Given the description of an element on the screen output the (x, y) to click on. 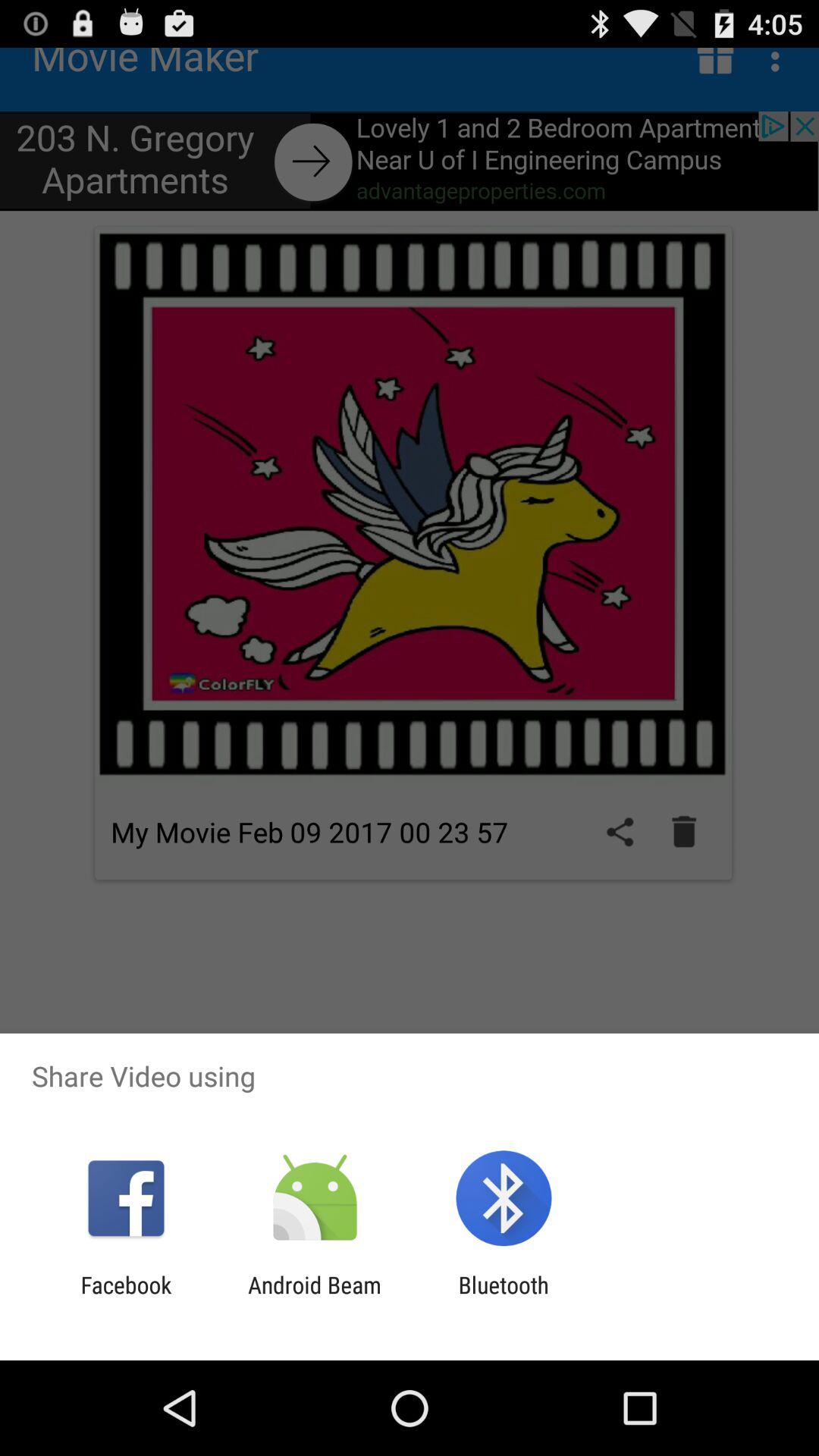
press the item to the left of bluetooth icon (314, 1298)
